Given the description of an element on the screen output the (x, y) to click on. 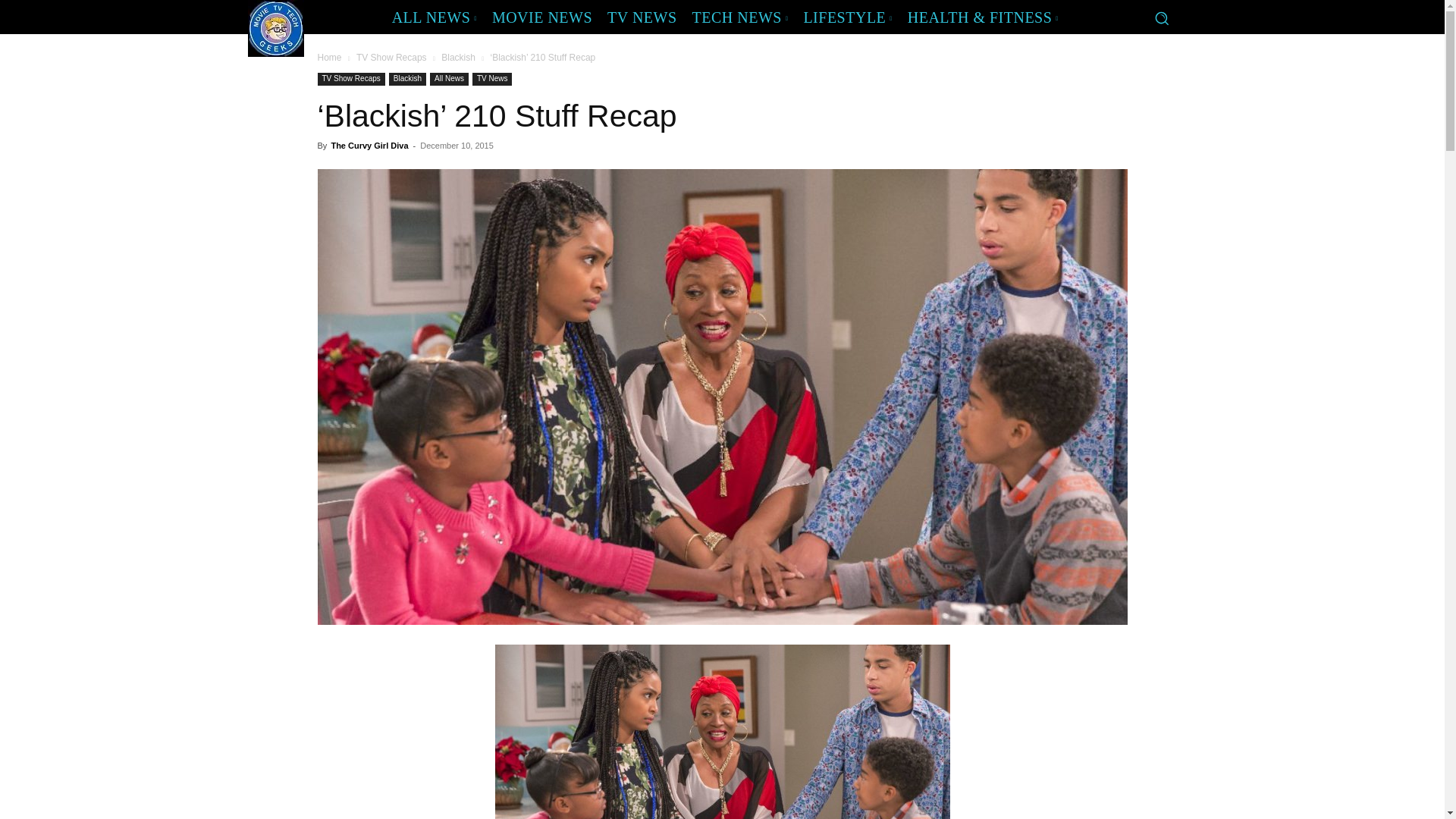
View all posts in TV Show Recaps (391, 57)
LIFESTYLE (846, 17)
Blackish (407, 78)
Blackish (458, 57)
TECH NEWS (740, 17)
TV News (491, 78)
All News (448, 78)
ALL NEWS (434, 17)
Home (328, 57)
TV NEWS (641, 17)
TV Show Recaps (350, 78)
TV Show Recaps (391, 57)
View all posts in Blackish (458, 57)
MOVIE NEWS (541, 17)
